Given the description of an element on the screen output the (x, y) to click on. 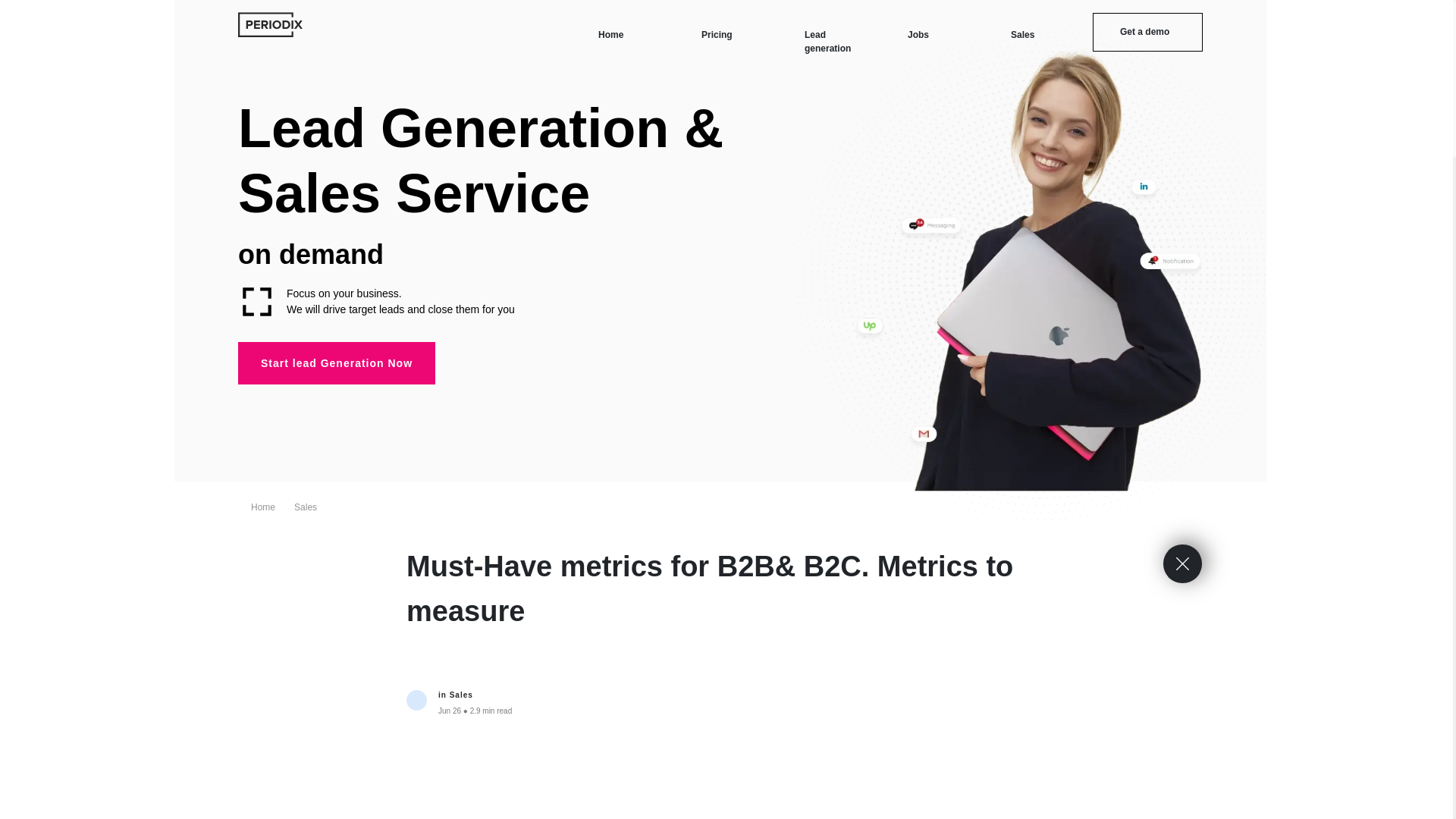
Start lead Generation Now (336, 363)
Sales (1021, 33)
Home (610, 33)
Pricing (716, 33)
Lead generation (827, 40)
Jobs (917, 33)
Get a demo (1147, 31)
Home (262, 507)
Sales (461, 694)
Sales (305, 507)
